Given the description of an element on the screen output the (x, y) to click on. 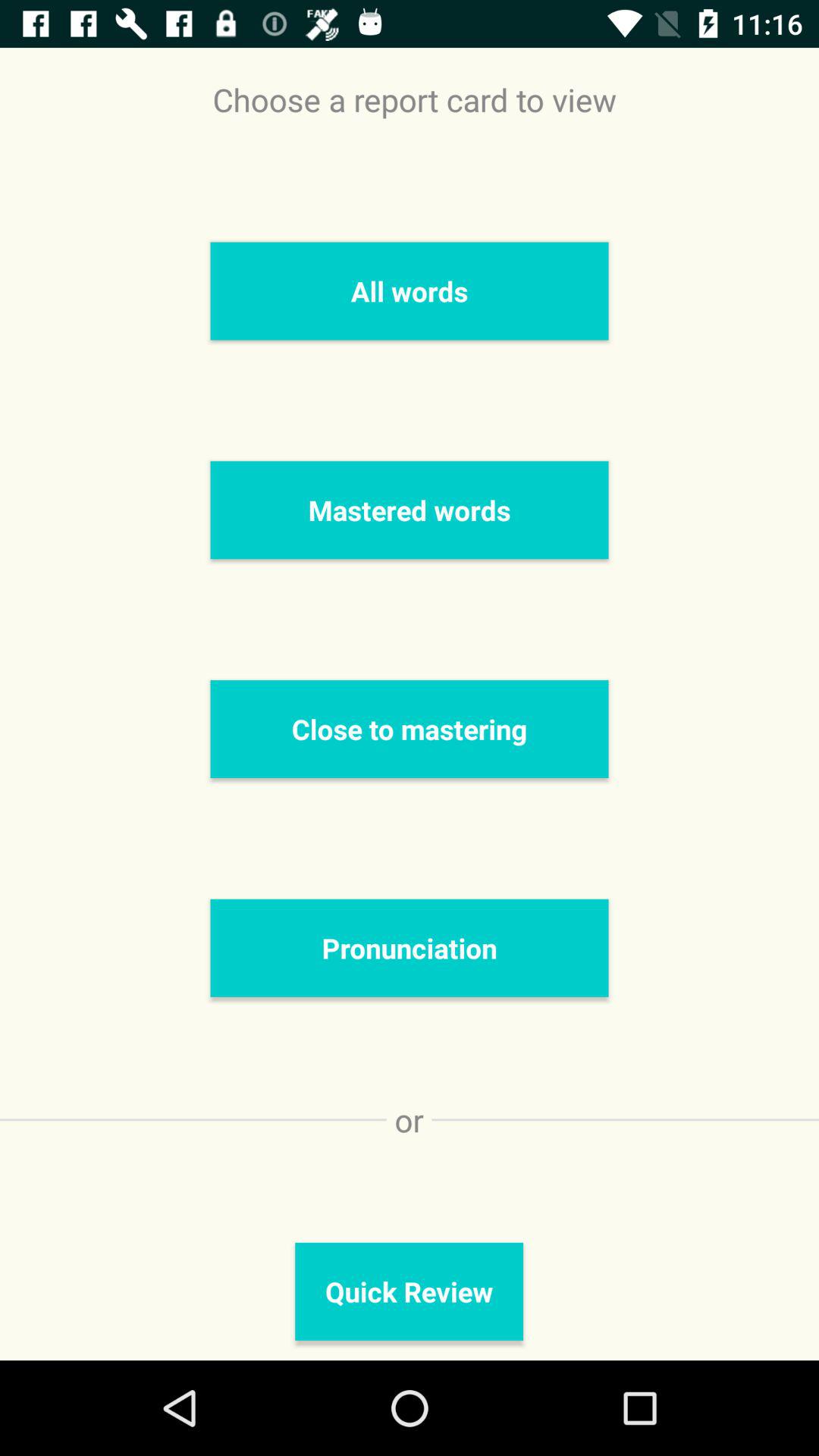
jump to close to mastering icon (409, 729)
